Given the description of an element on the screen output the (x, y) to click on. 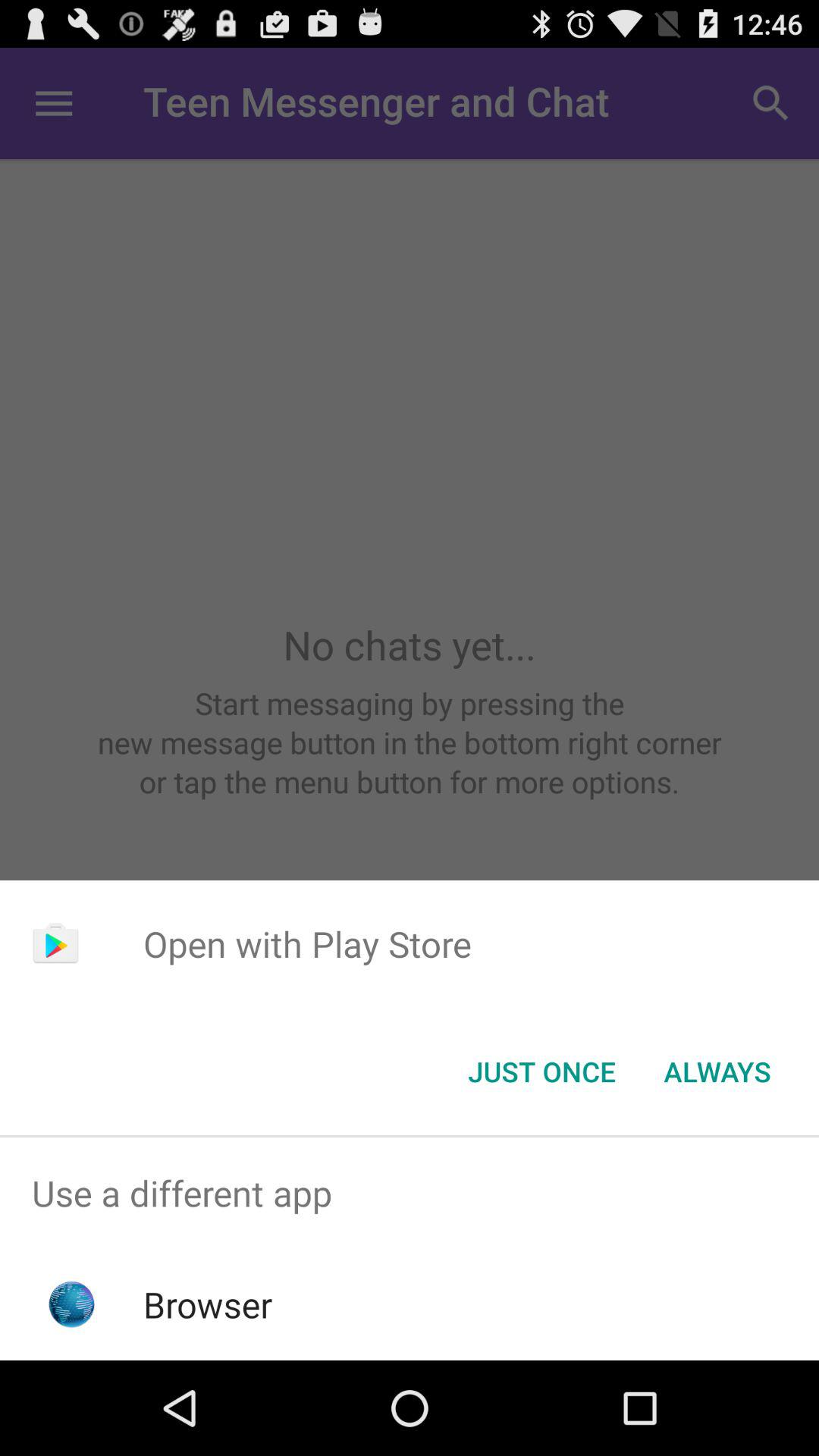
jump to always item (717, 1071)
